Given the description of an element on the screen output the (x, y) to click on. 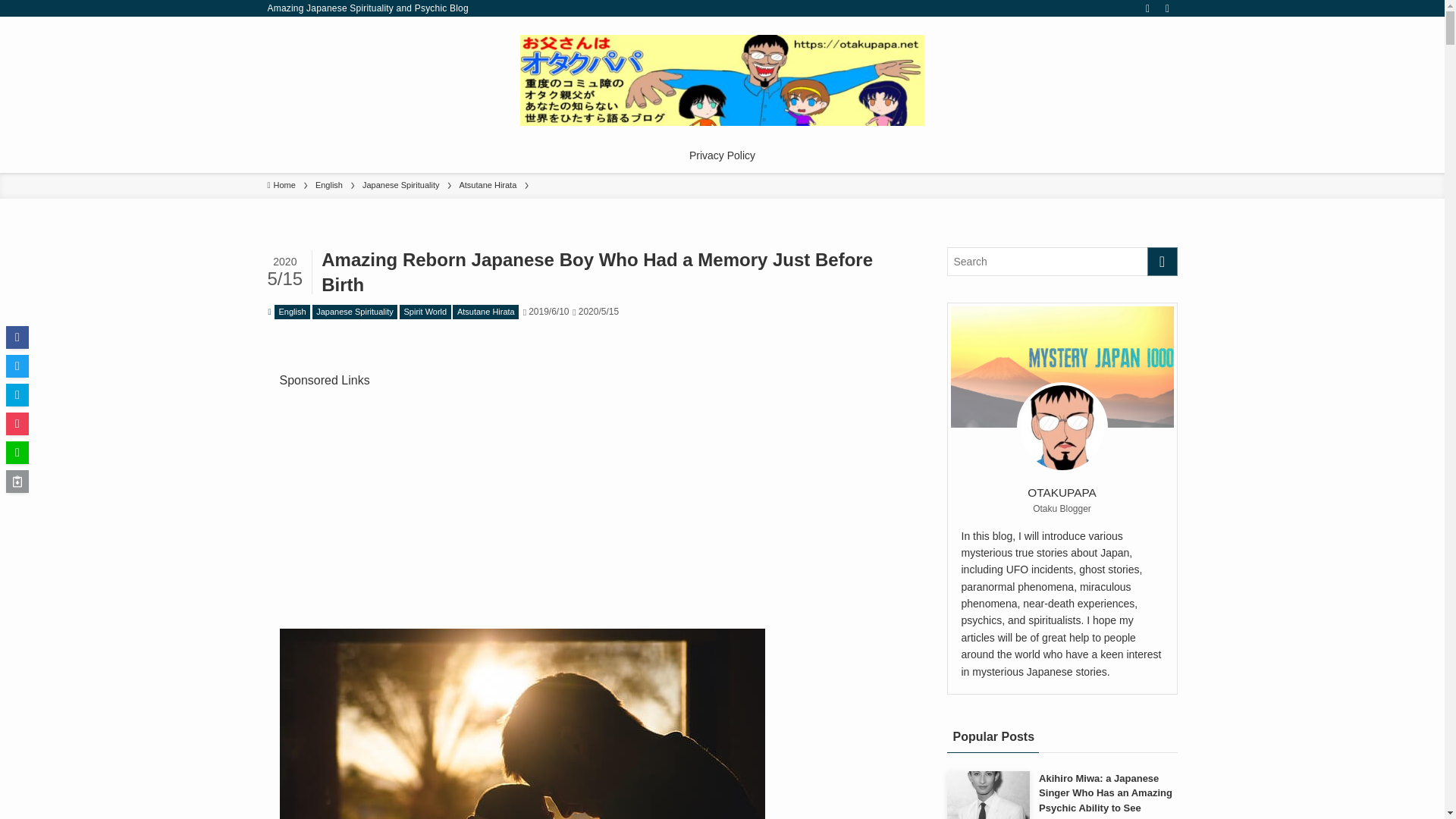
Home (280, 185)
Register in Hatena Bookmark (17, 395)
Privacy Policy (722, 155)
Spirit World (424, 311)
English (292, 311)
Japanese Spirituality (400, 185)
Share on Twitter (17, 365)
Share on Facebook (17, 336)
English (328, 185)
Japanese Spirituality (355, 311)
